Given the description of an element on the screen output the (x, y) to click on. 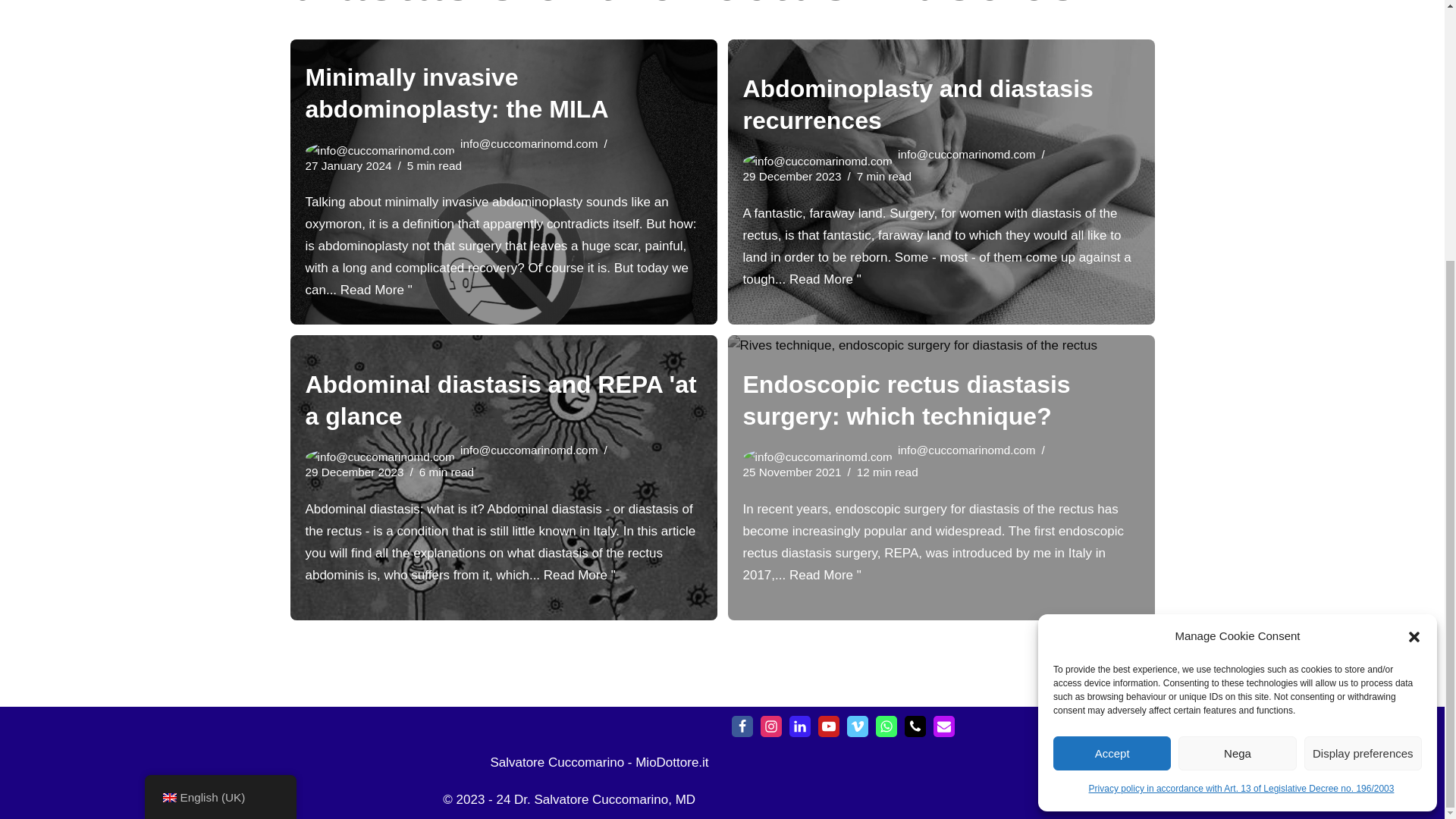
Instagram (770, 726)
Minimally invasive abdominoplasty: the MILA (456, 92)
Nega (1236, 380)
Accept (1111, 380)
Facebook (742, 726)
Display preferences (1363, 380)
